Given the description of an element on the screen output the (x, y) to click on. 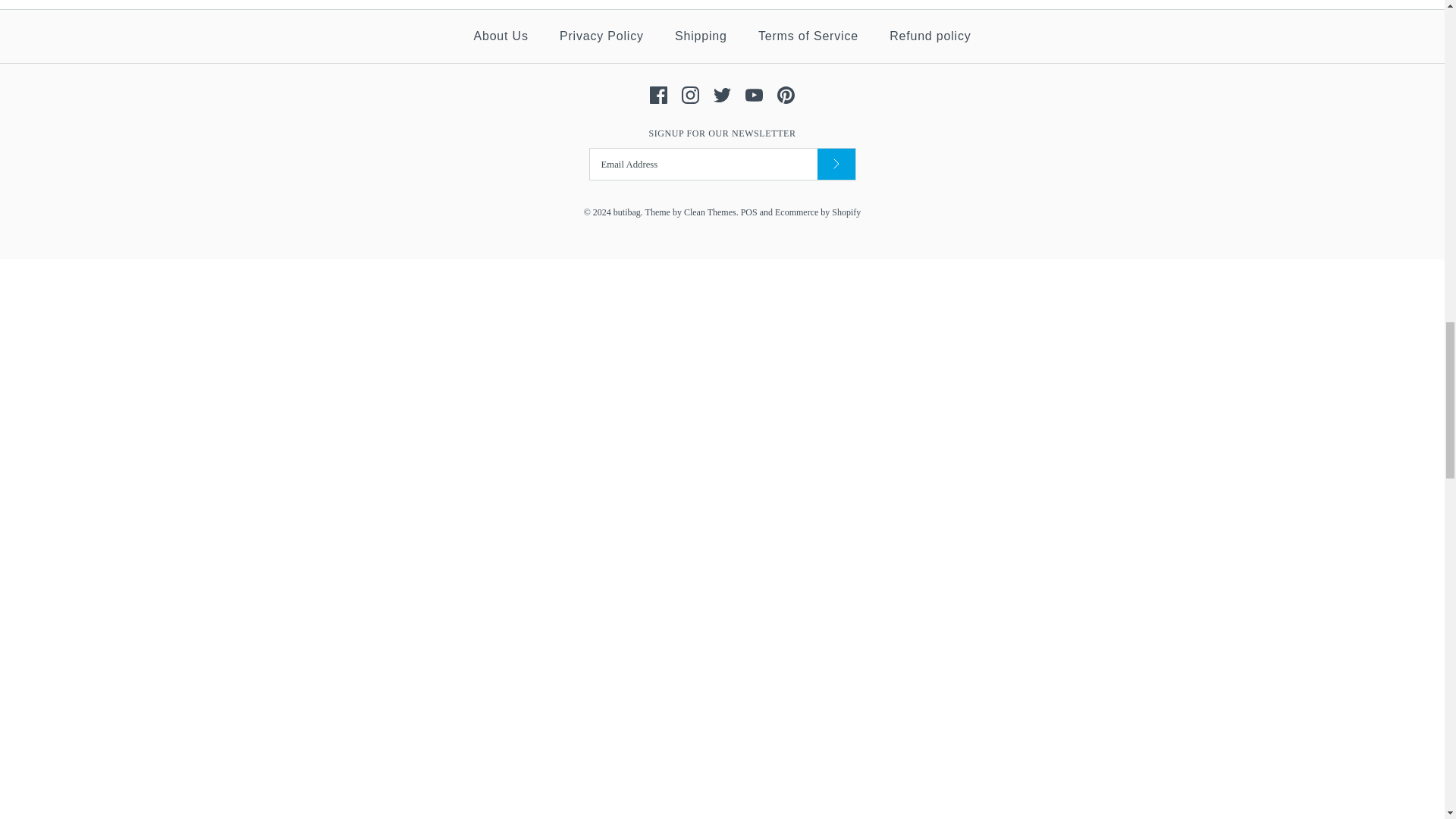
Pinterest (785, 95)
Youtube (753, 95)
Instagram (689, 95)
Twitter (721, 95)
Facebook (657, 95)
